Given the description of an element on the screen output the (x, y) to click on. 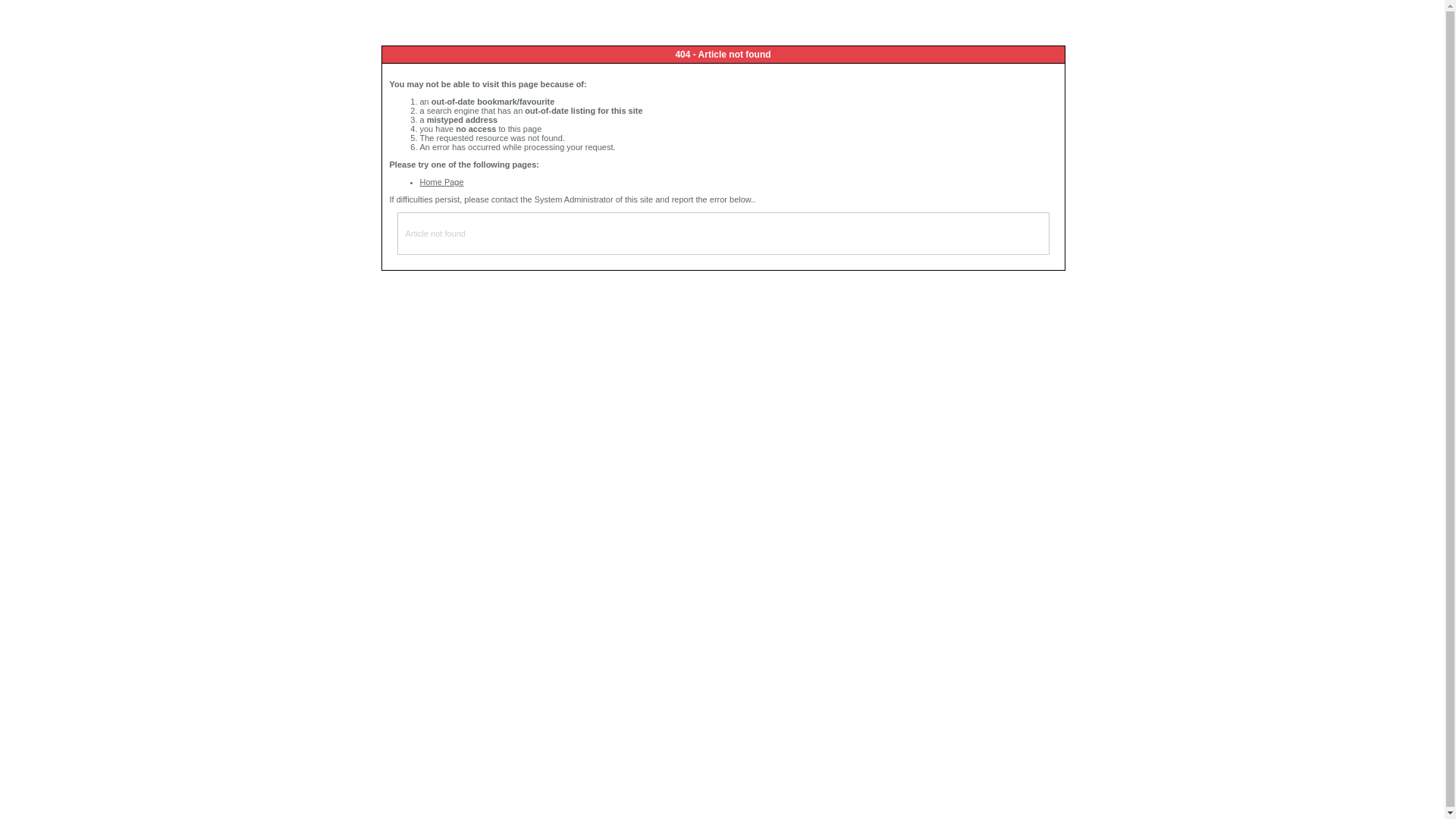
Home Page Element type: text (442, 181)
